Given the description of an element on the screen output the (x, y) to click on. 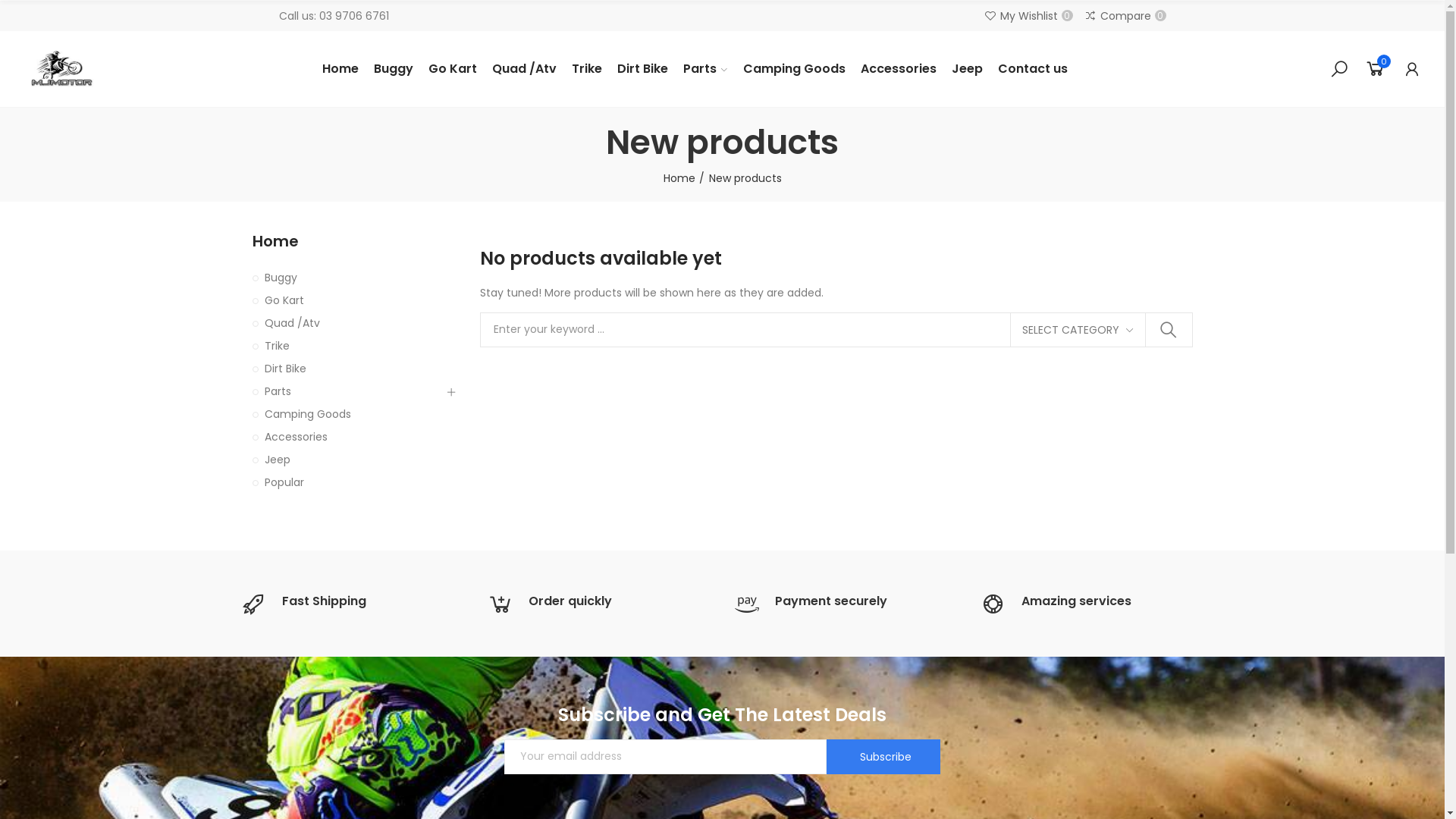
Home Element type: text (353, 241)
Search Element type: hover (1339, 68)
Popular Element type: text (346, 481)
Buggy Element type: text (346, 277)
Trike Element type: text (586, 68)
Go Kart Element type: text (452, 68)
Parts Element type: text (705, 68)
Camping Goods Element type: text (793, 68)
Dirt Bike Element type: text (641, 68)
Compare
0 Element type: text (1125, 15)
0 Element type: text (1375, 68)
Dirt Bike Element type: text (346, 368)
Quad /Atv Element type: text (524, 68)
Home Element type: text (340, 68)
Parts Element type: text (346, 390)
Subscribe Element type: text (883, 756)
Go Kart Element type: text (346, 299)
My Wishlist
0 Element type: text (1028, 15)
SELECT CATEGORY Element type: text (1077, 329)
Camping Goods Element type: text (346, 413)
Jeep Element type: text (346, 459)
Home Element type: text (682, 178)
Contact us Element type: text (1031, 68)
Jeep Element type: text (966, 68)
Search Element type: text (1167, 329)
Buggy Element type: text (393, 68)
Trike Element type: text (346, 345)
Accessories Element type: text (898, 68)
My Account Element type: hover (1411, 68)
Quad /Atv Element type: text (346, 322)
Accessories Element type: text (346, 436)
